Given the description of an element on the screen output the (x, y) to click on. 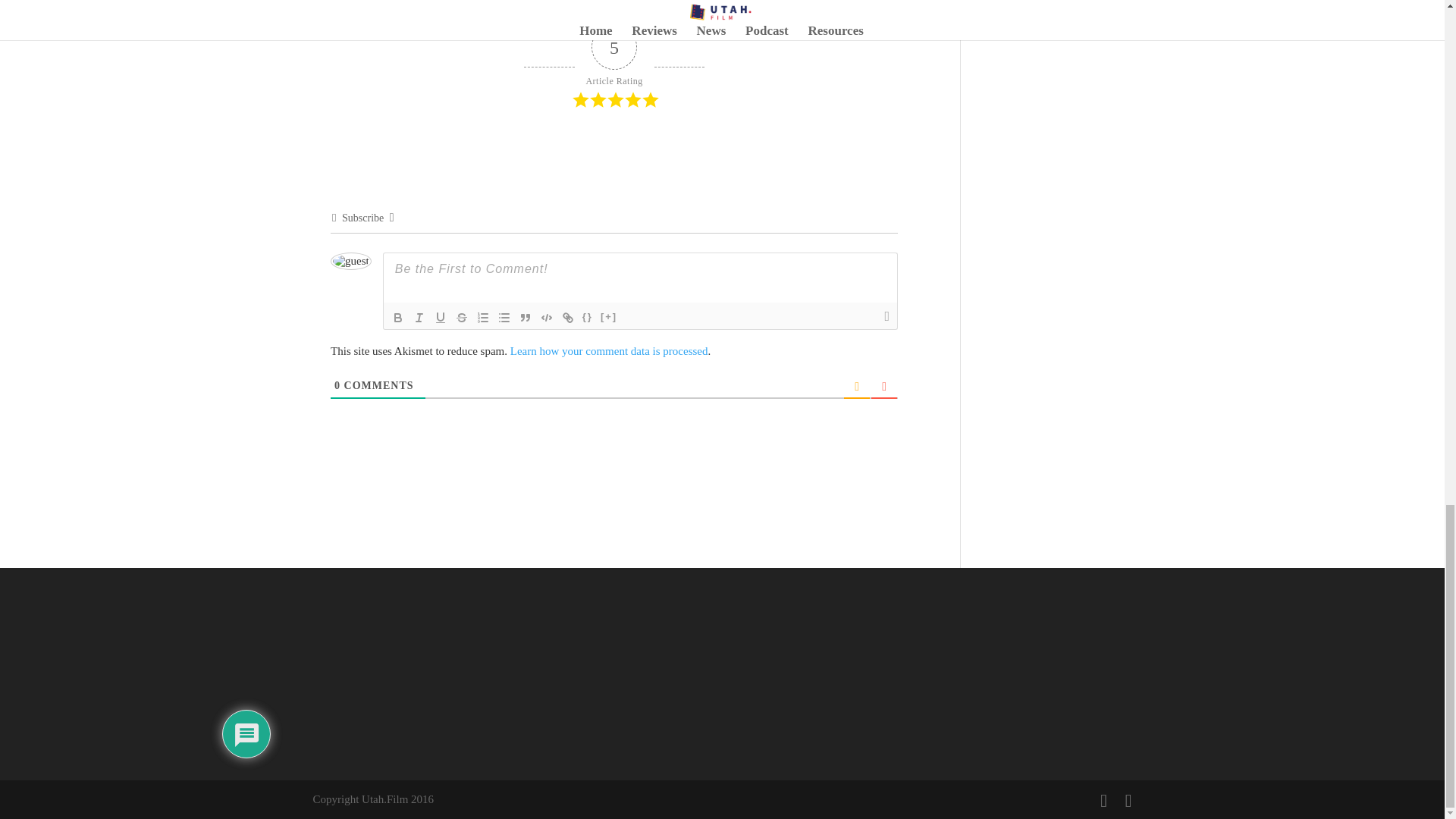
Underline (440, 317)
ordered (482, 317)
Link (567, 317)
Unordered List (504, 317)
Spoiler (608, 317)
Source Code (587, 317)
Code Block (546, 317)
Strike (461, 317)
Blockquote (525, 317)
Ordered List (482, 317)
